Given the description of an element on the screen output the (x, y) to click on. 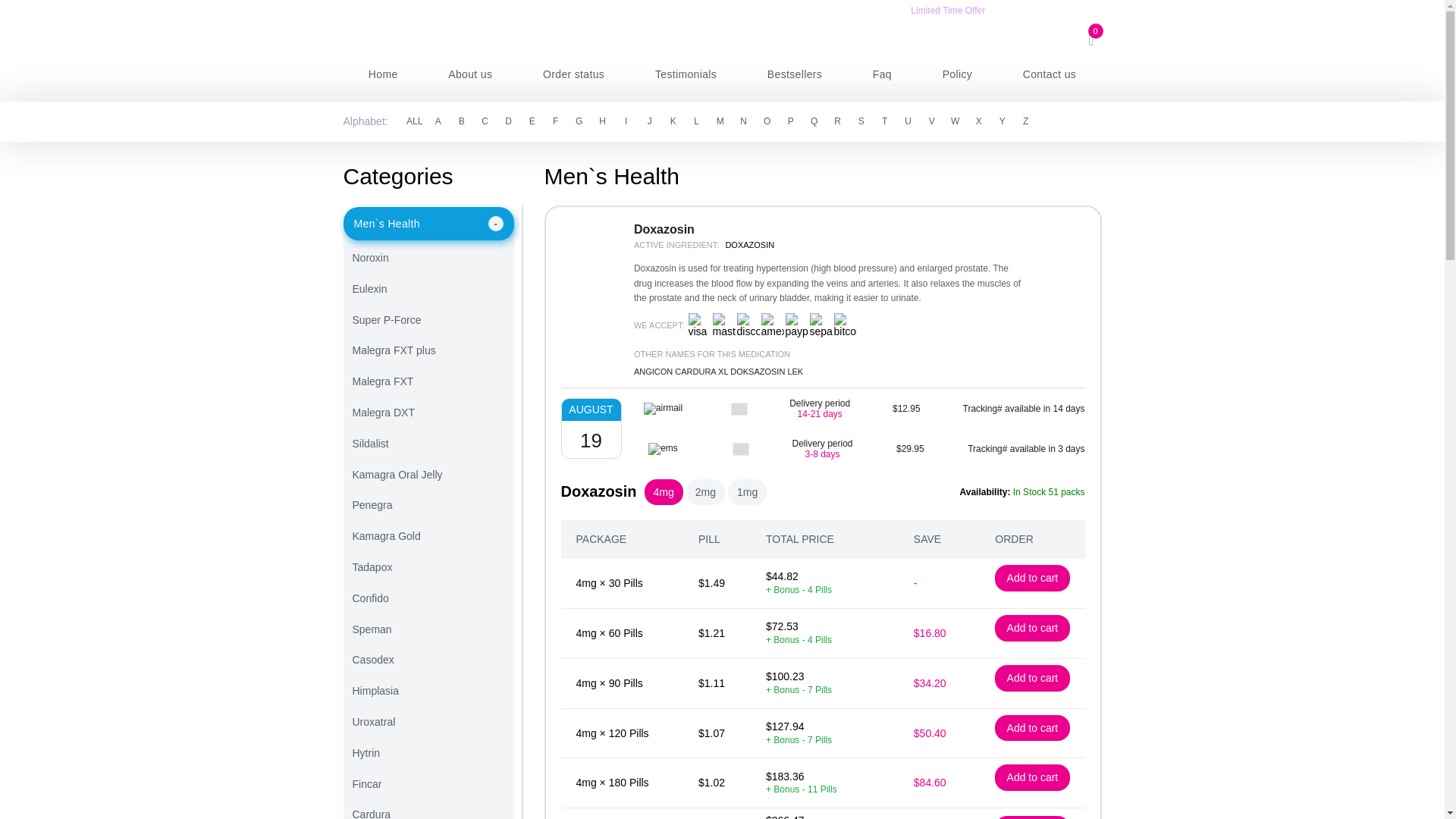
E (532, 120)
bestsellers (794, 74)
K (673, 120)
order status (574, 74)
M (720, 120)
P (790, 120)
Q (814, 120)
J (650, 120)
about us (470, 74)
policy (957, 74)
